Given the description of an element on the screen output the (x, y) to click on. 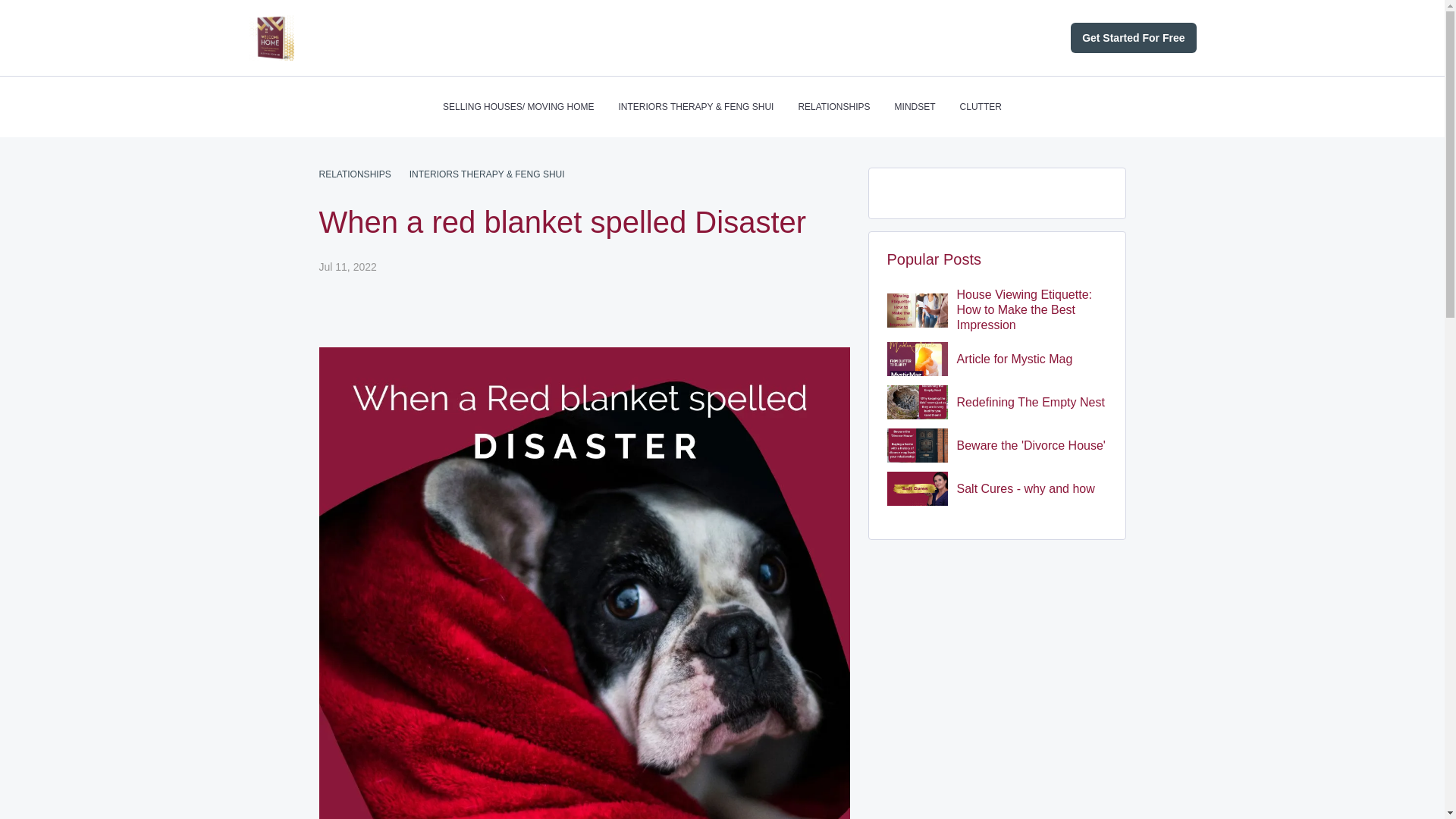
RELATIONSHIPS (354, 174)
Redefining The Empty Nest (1026, 402)
CLUTTER (980, 106)
RELATIONSHIPS (833, 106)
Get Started For Free (1132, 37)
MINDSET (915, 106)
Salt Cures - why and how (1026, 488)
Article for Mystic Mag (1026, 359)
House Viewing Etiquette: How to Make the Best Impression (1026, 309)
Beware the 'Divorce House' (1026, 445)
